Given the description of an element on the screen output the (x, y) to click on. 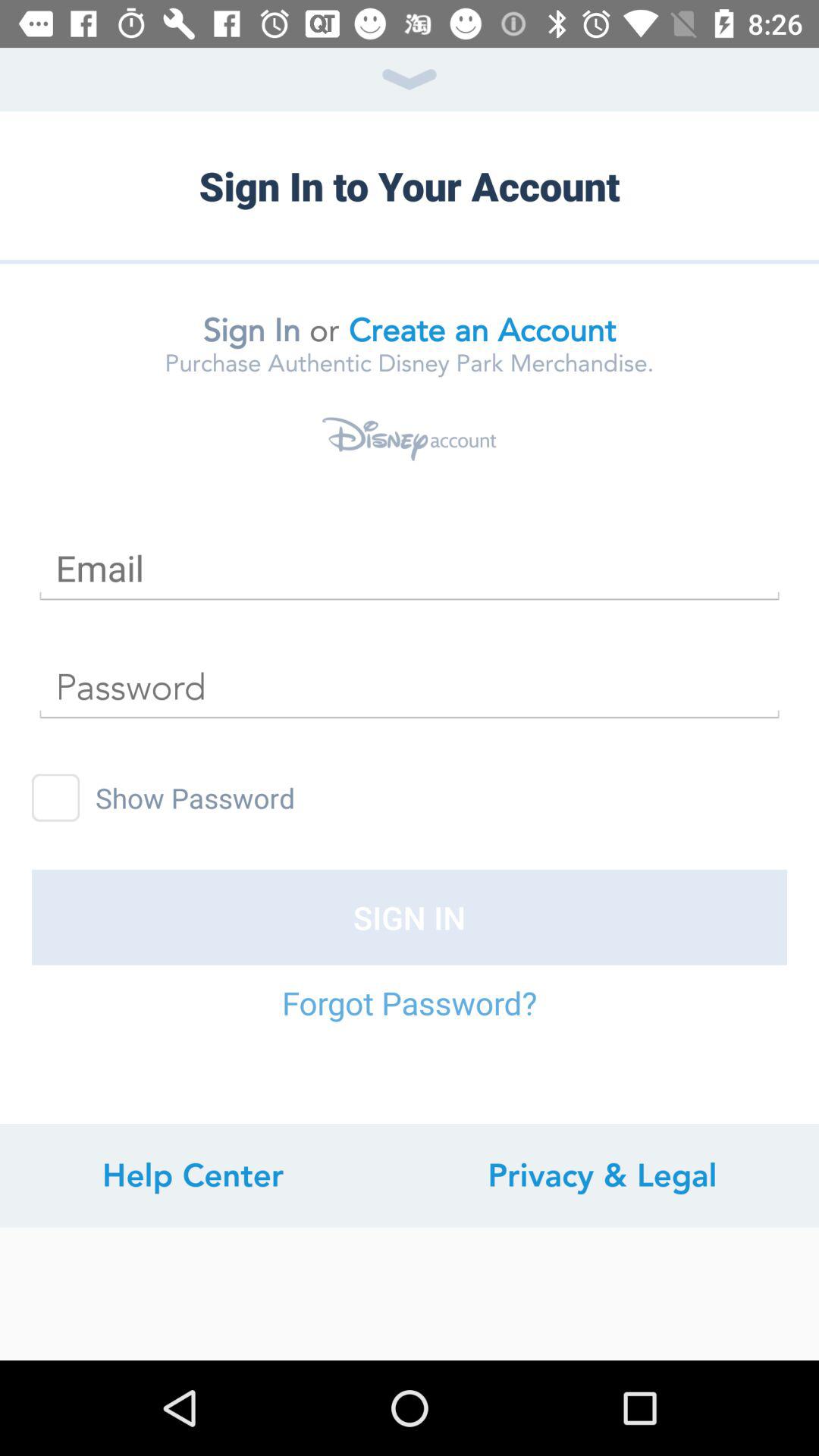
turn on the icon below sign in (409, 1018)
